Given the description of an element on the screen output the (x, y) to click on. 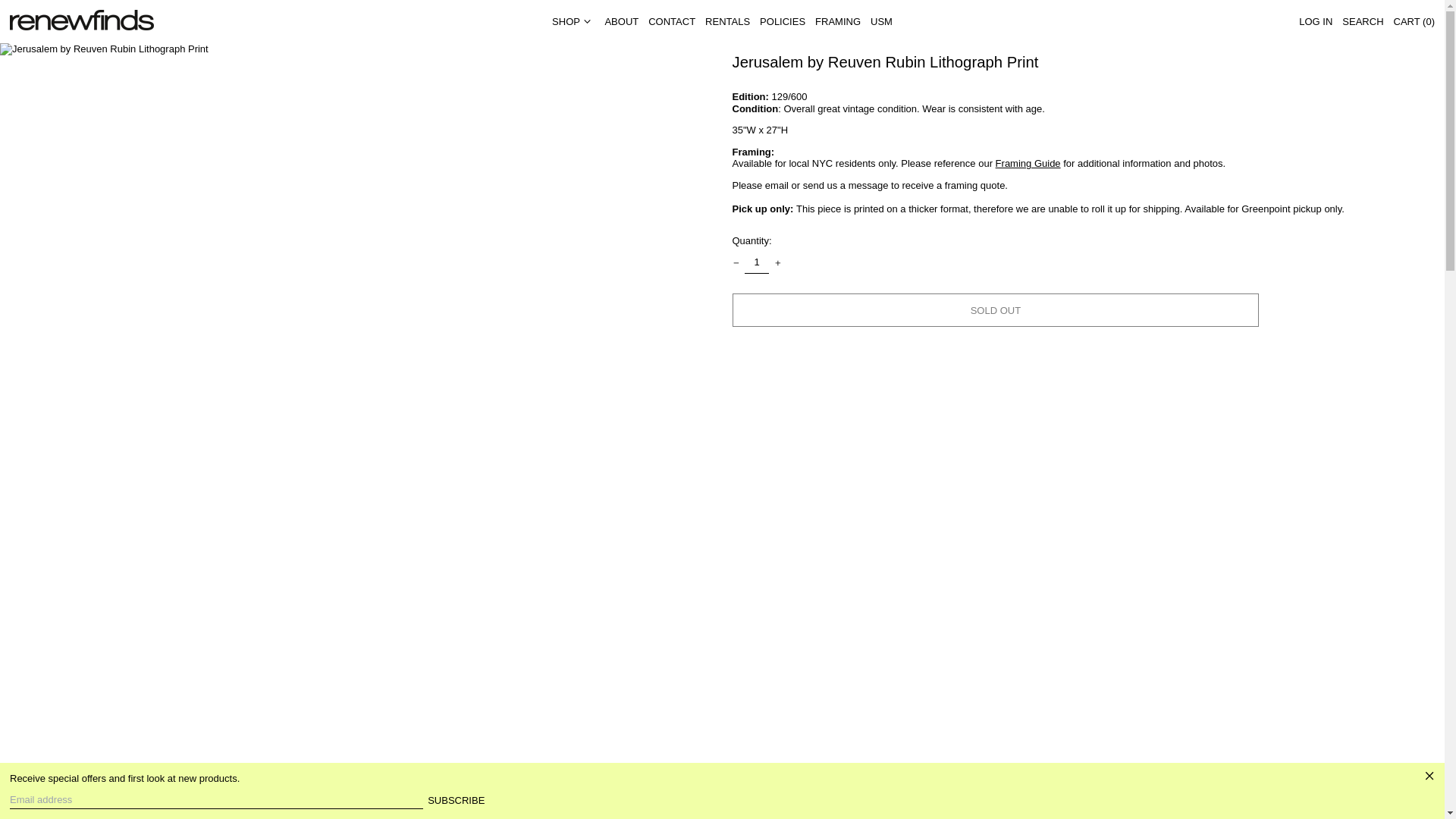
SHOP (572, 20)
1 (757, 262)
